Given the description of an element on the screen output the (x, y) to click on. 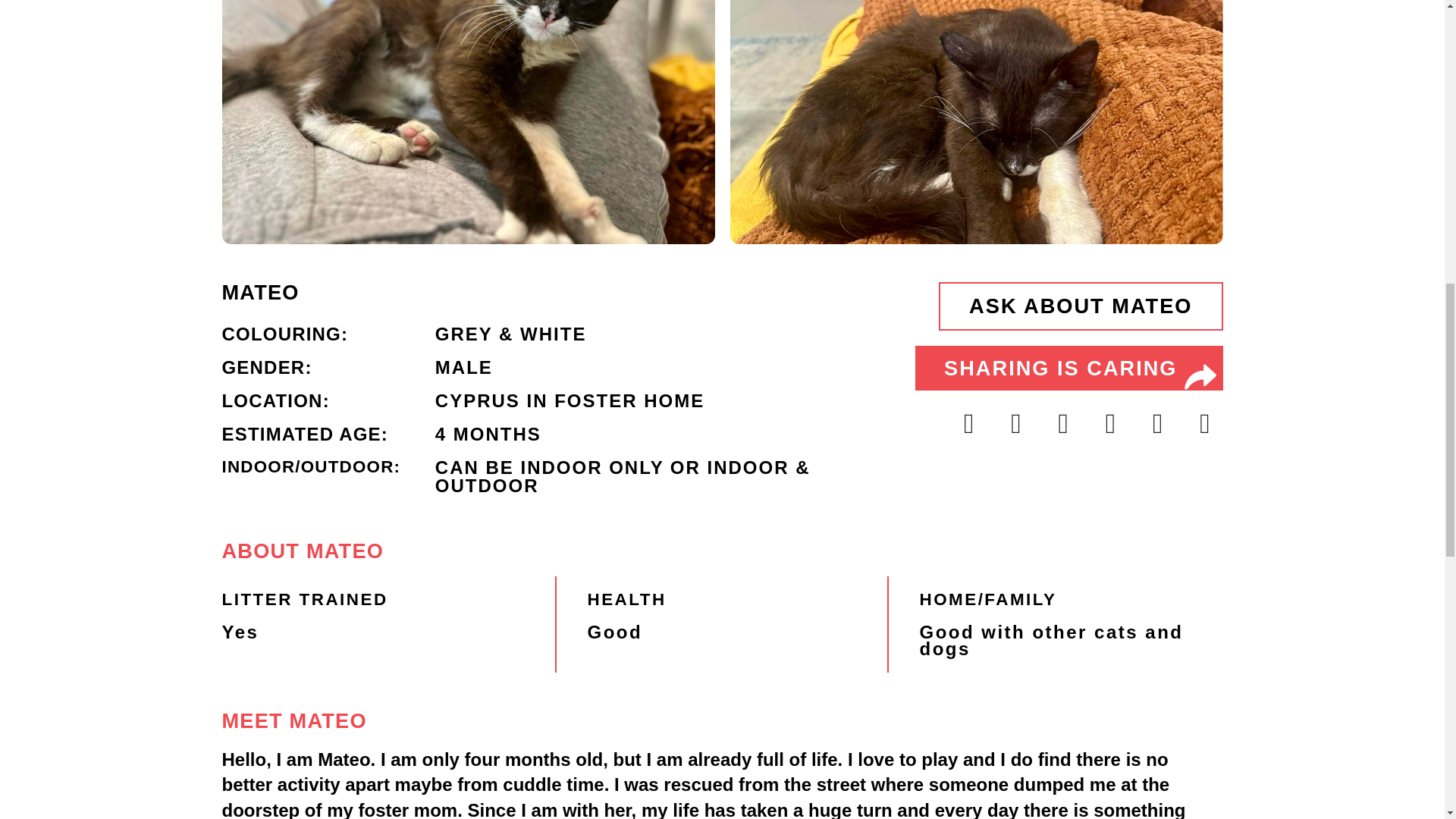
ASK ABOUT MATEO (1081, 305)
SHARING IS CARING (1069, 368)
